Given the description of an element on the screen output the (x, y) to click on. 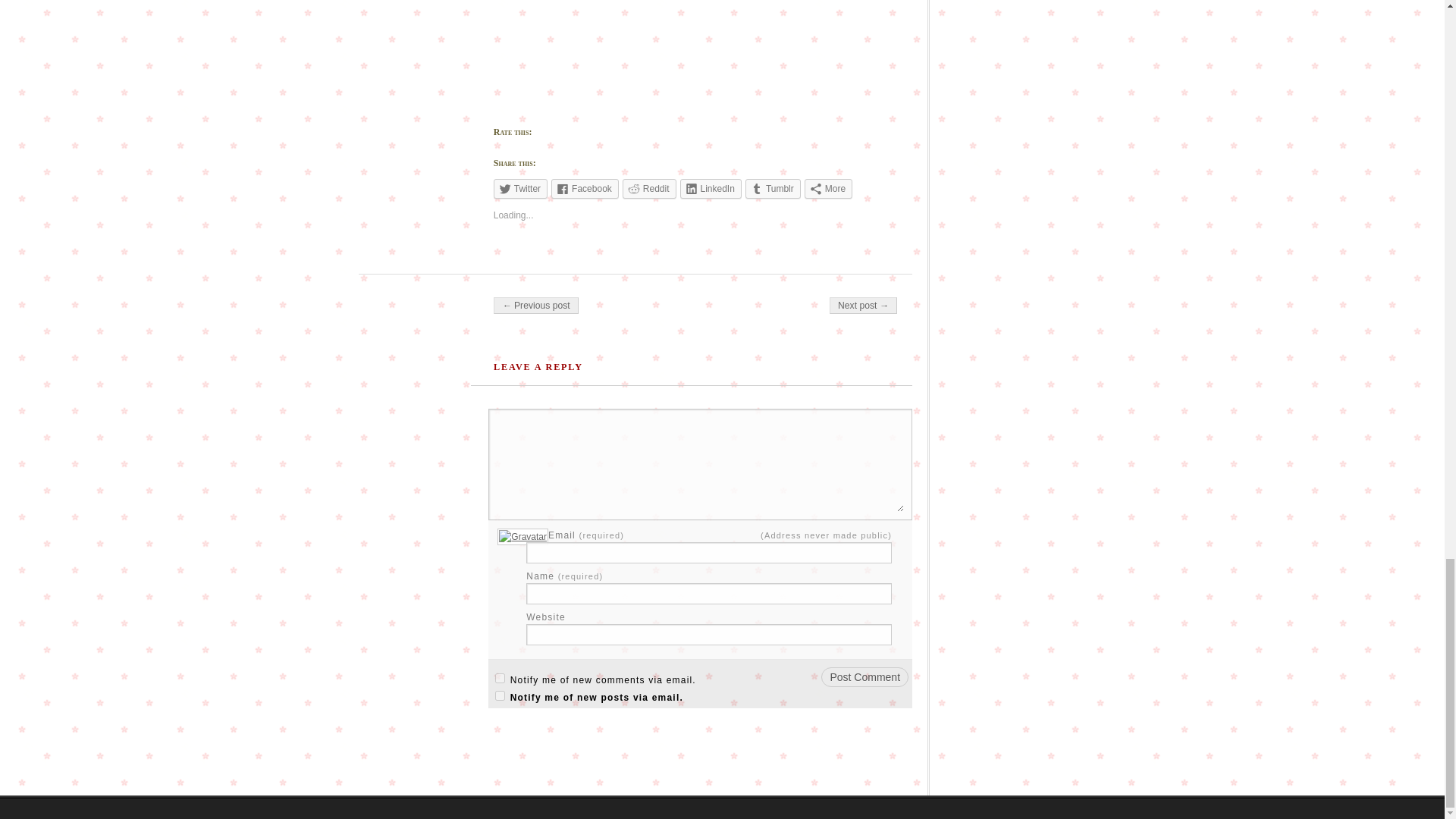
Click to share on LinkedIn (710, 189)
Twitter (520, 189)
Click to share on Reddit (650, 189)
LinkedIn (710, 189)
subscribe (500, 696)
Click to share on Tumblr (772, 189)
Tumblr (772, 189)
subscribe (500, 678)
Facebook (584, 189)
Share on Facebook (584, 189)
